Given the description of an element on the screen output the (x, y) to click on. 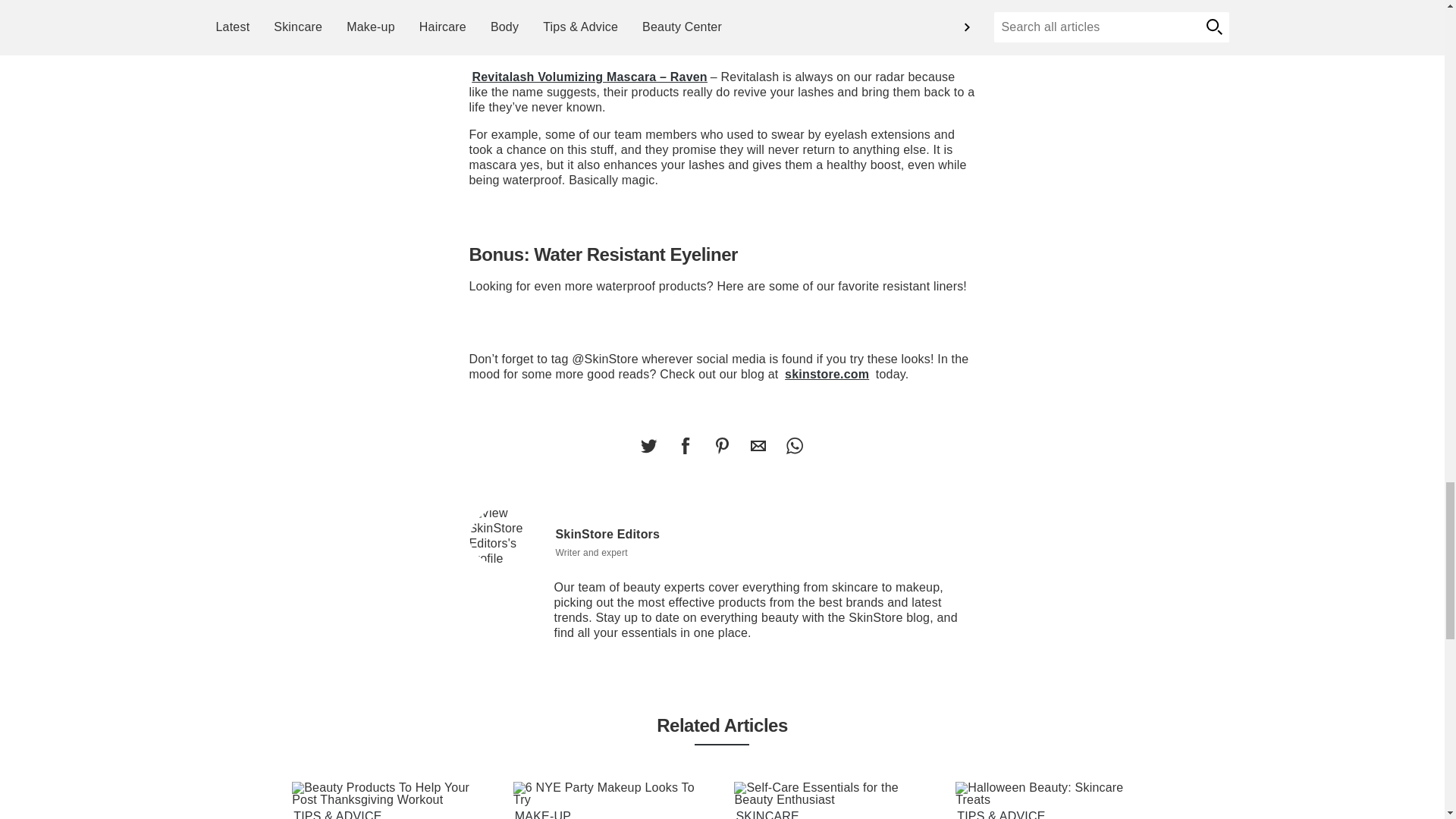
SkinStore Editors (505, 536)
Share this on Pinterest (721, 445)
Share this on WhatsApp (793, 445)
Share this by Email (757, 445)
Share this on Twitter (648, 445)
Share this on Facebook (684, 445)
